Given the description of an element on the screen output the (x, y) to click on. 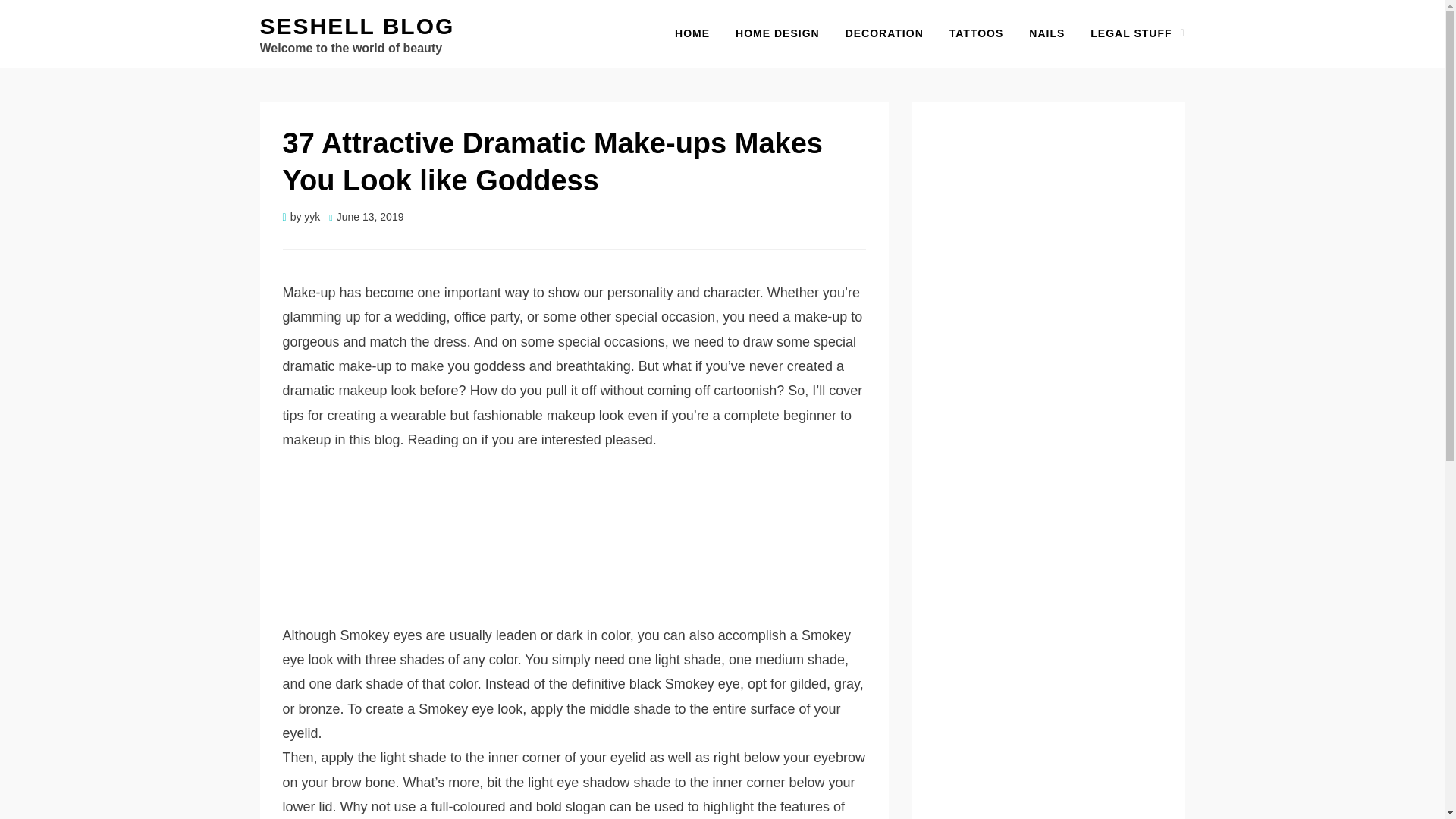
HOME DESIGN (777, 33)
June 13, 2019 (366, 216)
yyk (312, 216)
Advertisement (574, 548)
LEGAL STUFF (1131, 33)
SeShell Blog (356, 25)
HOME (692, 33)
NAILS (1046, 33)
DECORATION (884, 33)
SESHELL BLOG (356, 25)
TATTOOS (976, 33)
